Given the description of an element on the screen output the (x, y) to click on. 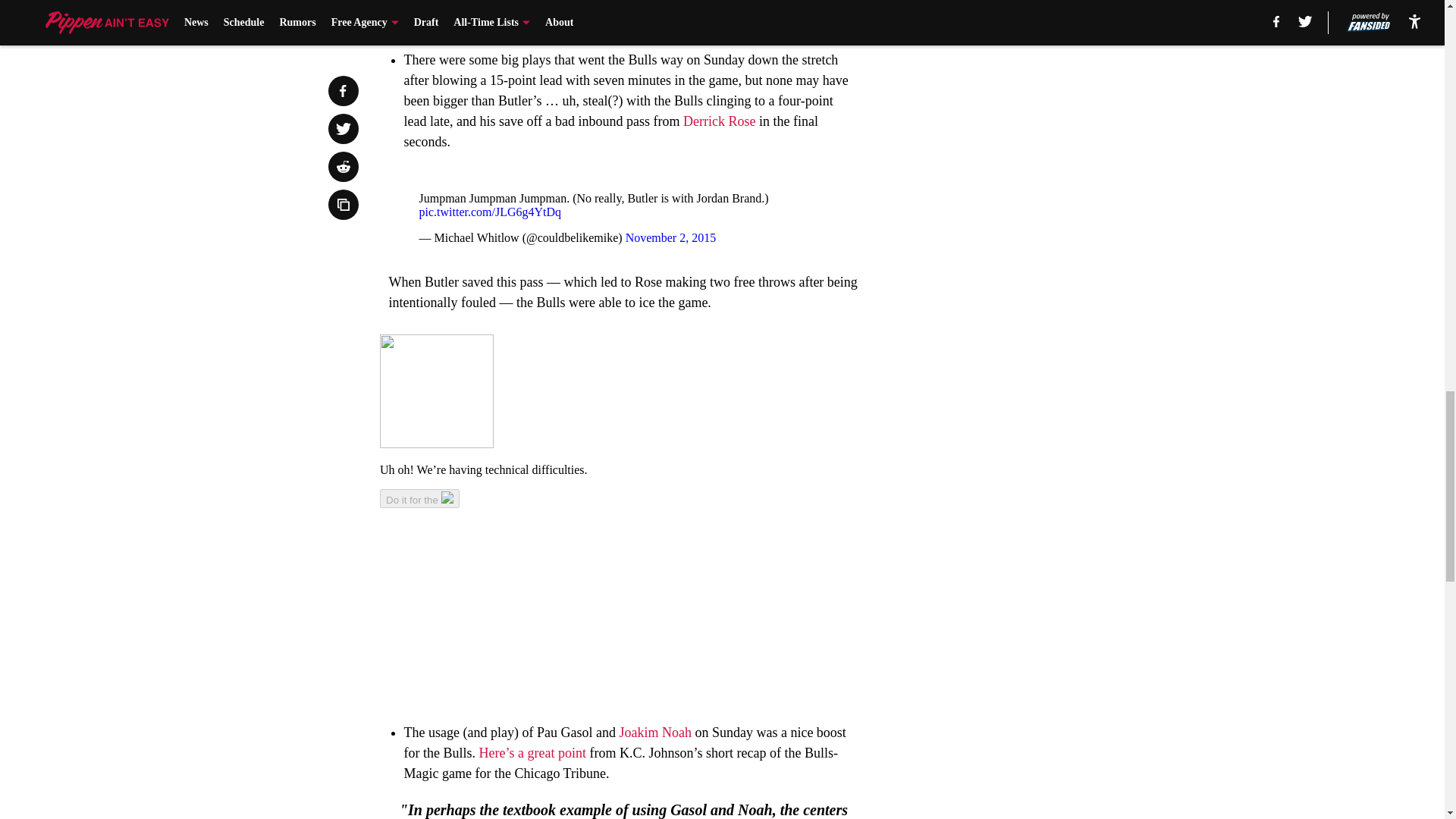
November 2, 2015 (671, 237)
Joakim Noah (654, 732)
Derrick Rose (718, 120)
